Given the description of an element on the screen output the (x, y) to click on. 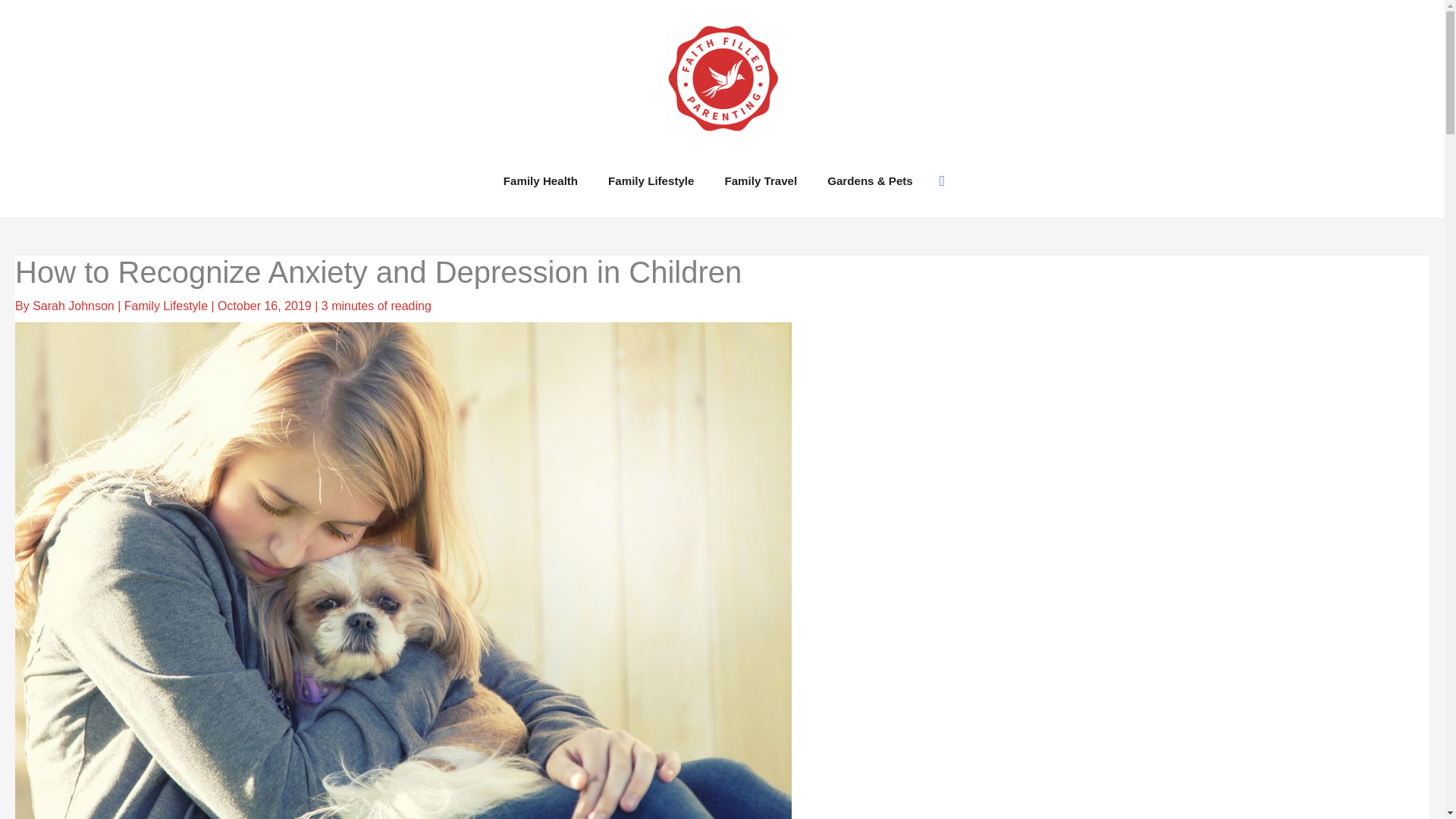
Family Travel (760, 180)
Family Lifestyle (650, 180)
Sarah Johnson (74, 305)
Family Lifestyle (165, 305)
View all posts by Sarah Johnson (74, 305)
Family Health (539, 180)
